Given the description of an element on the screen output the (x, y) to click on. 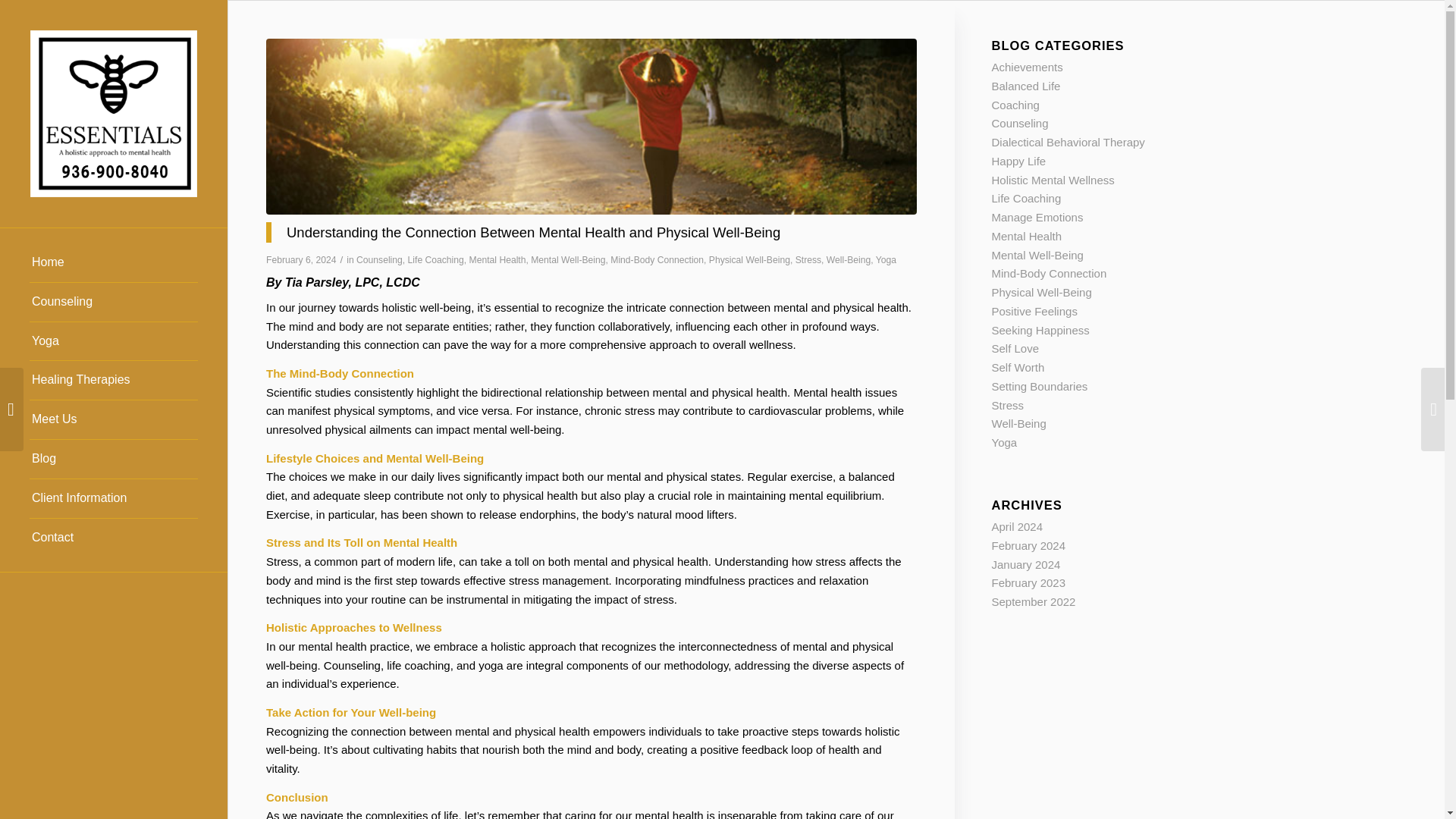
Contact (113, 537)
Achievements (1026, 66)
Healing Therapies (113, 380)
Mind-Body Connection (656, 259)
Yoga (886, 259)
Yoga (113, 341)
Counseling (379, 259)
Stress (807, 259)
Client Information (113, 498)
Meet Us (113, 419)
Mental Health (496, 259)
Coaching (1015, 104)
Counseling (113, 302)
Mental Well-Being (568, 259)
